Given the description of an element on the screen output the (x, y) to click on. 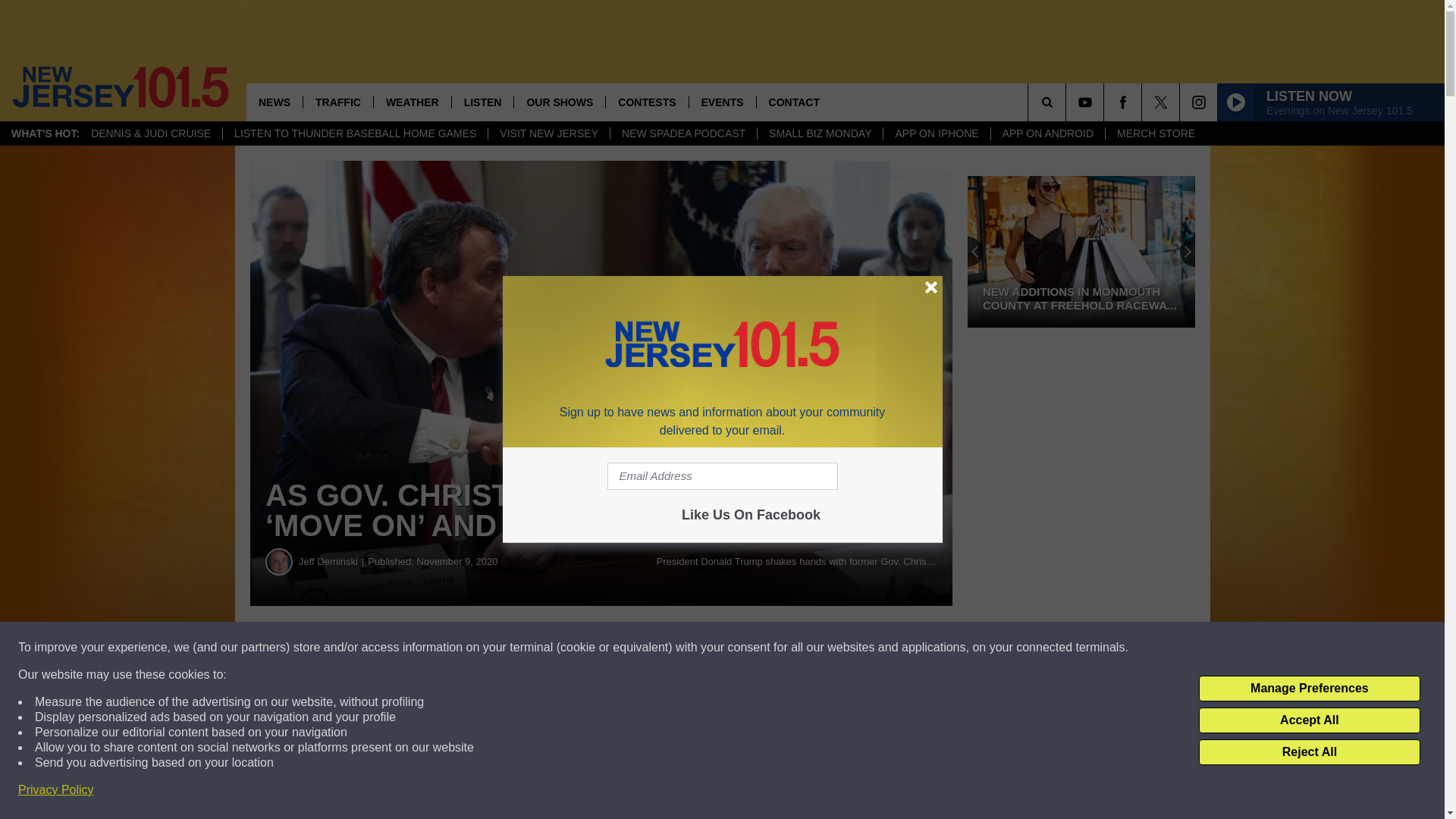
LISTEN (482, 102)
Reject All (1309, 751)
APP ON IPHONE (936, 133)
WEATHER (411, 102)
Manage Preferences (1309, 688)
Privacy Policy (55, 789)
Email Address (722, 475)
VISIT NEW JERSEY (548, 133)
NEWS (274, 102)
Share on Facebook (460, 647)
SEARCH (1068, 102)
Share on Twitter (741, 647)
APP ON ANDROID (1047, 133)
Accept All (1309, 720)
LISTEN TO THUNDER BASEBALL HOME GAMES (354, 133)
